Given the description of an element on the screen output the (x, y) to click on. 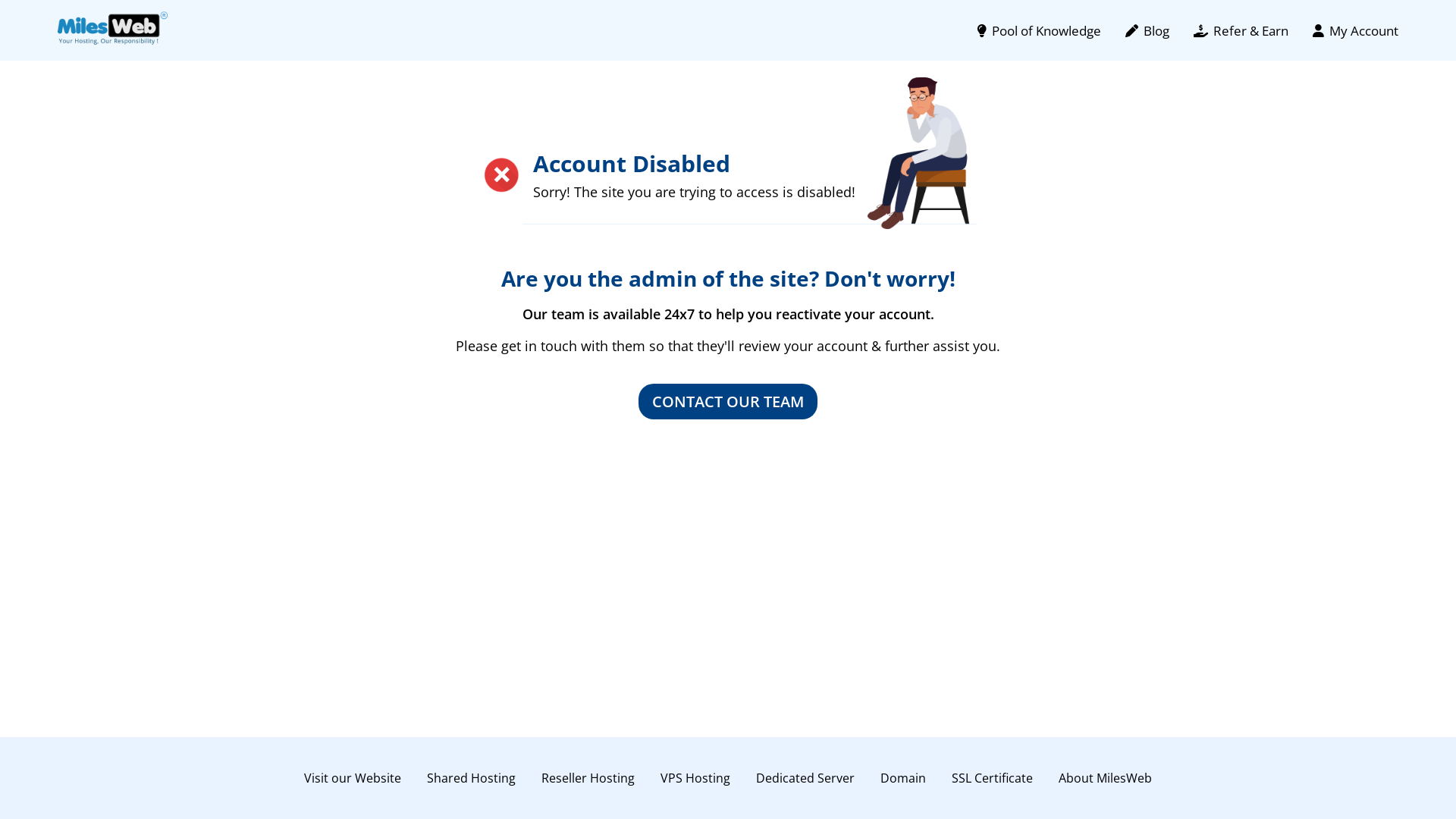
VPS Hosting Element type: text (695, 777)
Domain Element type: text (903, 777)
Blog Element type: text (1147, 30)
CONTACT OUR TEAM Element type: text (727, 401)
SSL Certificate Element type: text (992, 777)
Pool of Knowledge Element type: text (1038, 30)
Visit our Website Element type: text (352, 777)
Shared Hosting Element type: text (471, 777)
Dedicated Server Element type: text (805, 777)
My Account Element type: text (1355, 30)
Refer & Earn Element type: text (1240, 30)
Reseller Hosting Element type: text (588, 777)
About MilesWeb Element type: text (1105, 777)
Best Web Hosting in India | MilesWeb Element type: hover (112, 28)
